Given the description of an element on the screen output the (x, y) to click on. 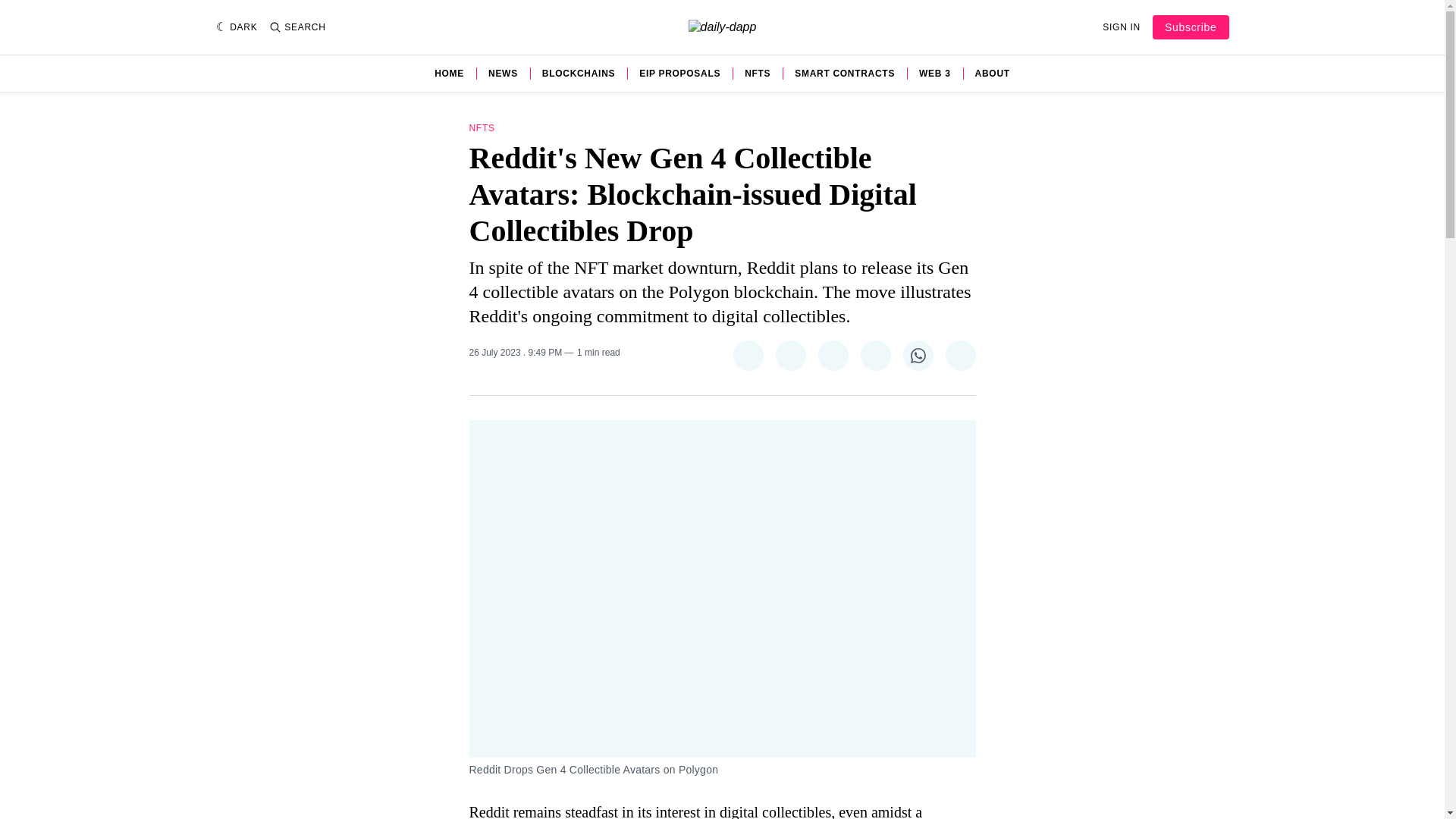
Share on LinkedIn (874, 355)
Subscribe (1190, 27)
NFTS (757, 73)
ABOUT (992, 73)
Share on Twitter (747, 355)
Share on Pinterest (831, 355)
BLOCKCHAINS (577, 73)
Share via Email (959, 355)
HOME (448, 73)
NFTS (481, 127)
WEB 3 (934, 73)
SMART CONTRACTS (844, 73)
SIGN IN (1121, 27)
DARK (236, 27)
Share on WhatsApp (917, 355)
